Given the description of an element on the screen output the (x, y) to click on. 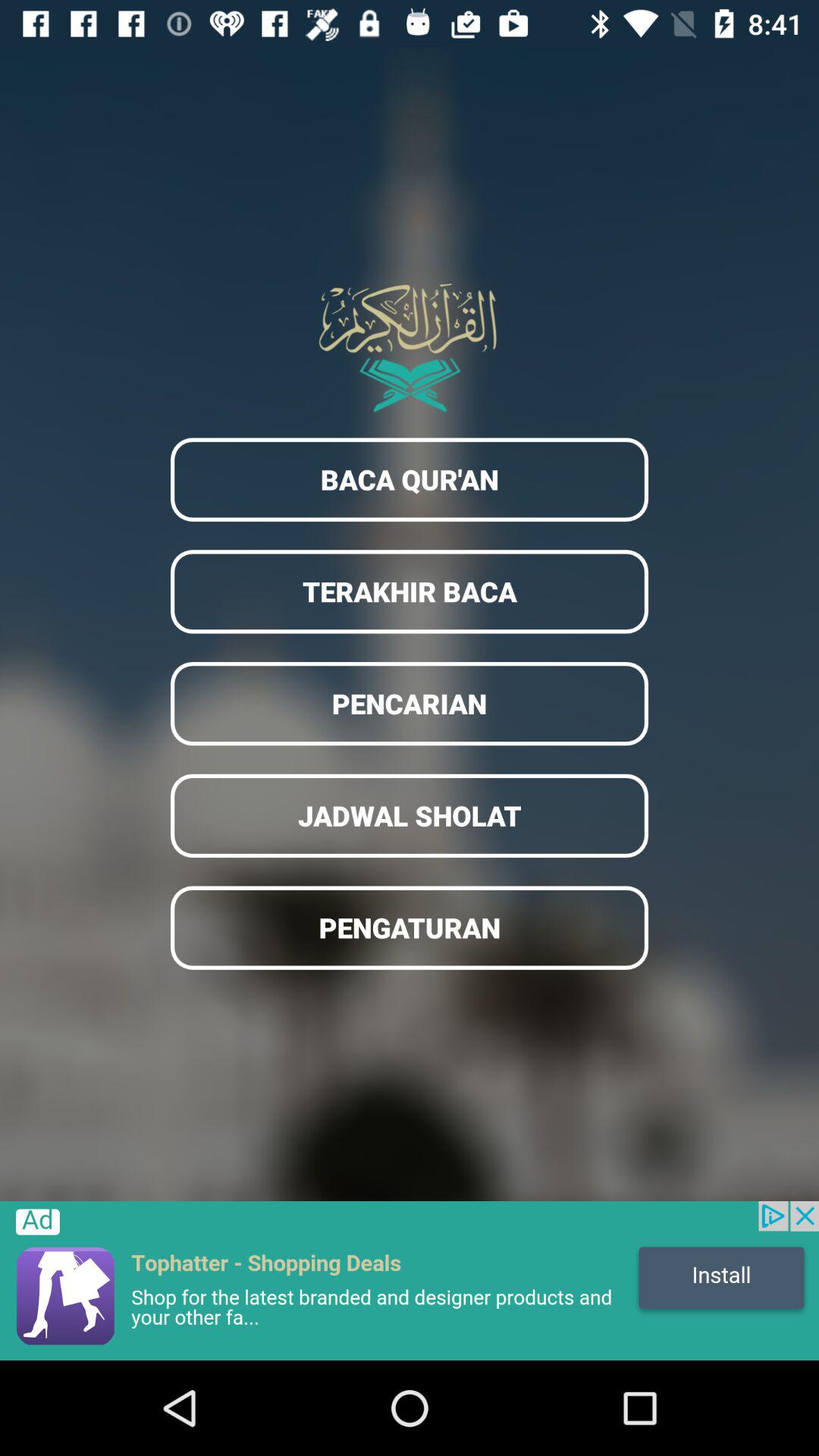
go to advertisement (409, 1280)
